Given the description of an element on the screen output the (x, y) to click on. 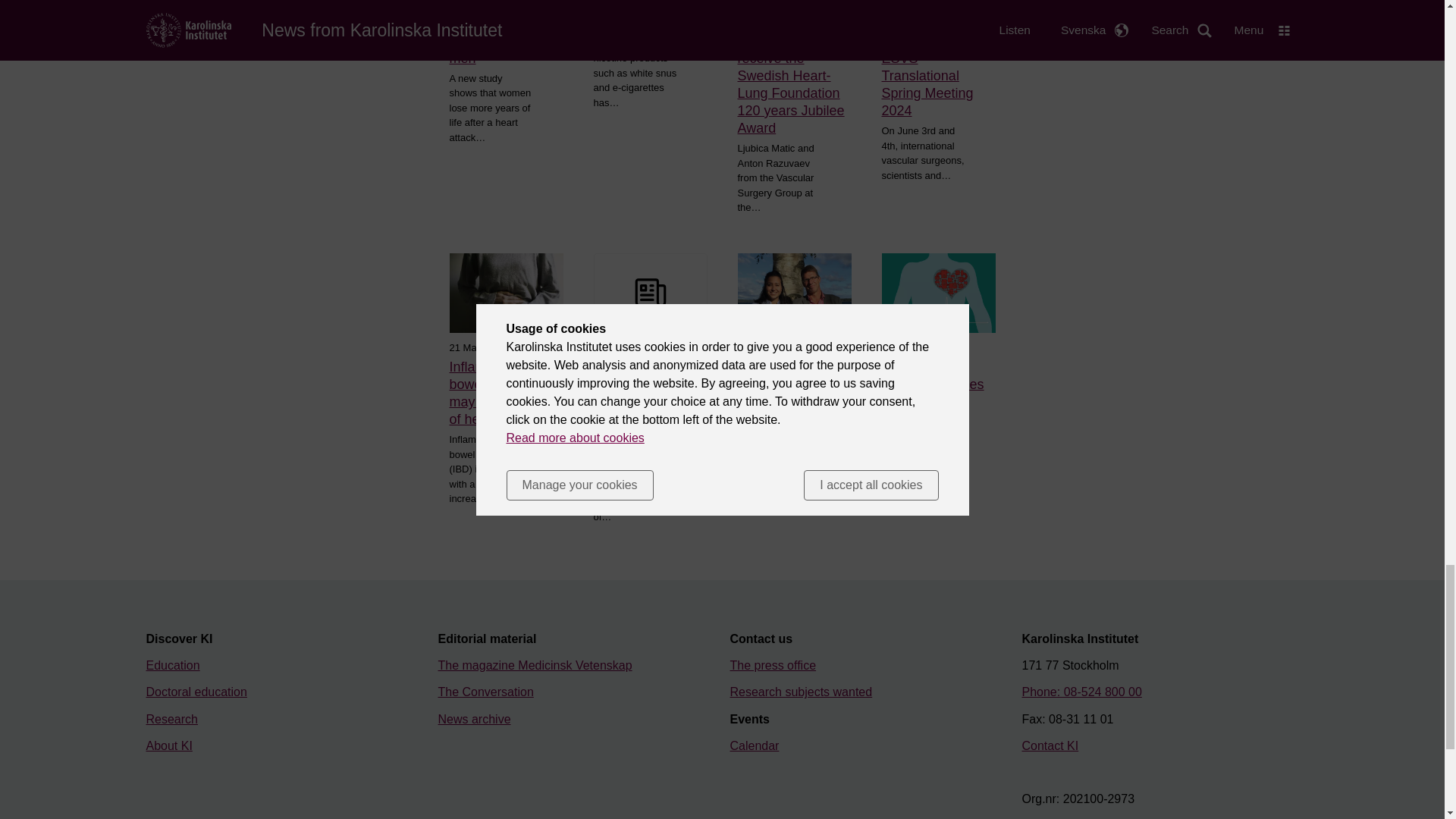
The magazine Medicinsk Vetenskap (534, 665)
The press office (772, 665)
Women lose more years of life after a heart attack than men (505, 33)
Nicotine in a new guise (649, 15)
Preventive angioplasty does not improve prognosis (937, 393)
Doctoral education (195, 691)
The Conversation (486, 691)
News archive (474, 718)
Education (172, 665)
Research (170, 718)
KI part of NextGen for personalised cardiovascular medicine (793, 393)
